Given the description of an element on the screen output the (x, y) to click on. 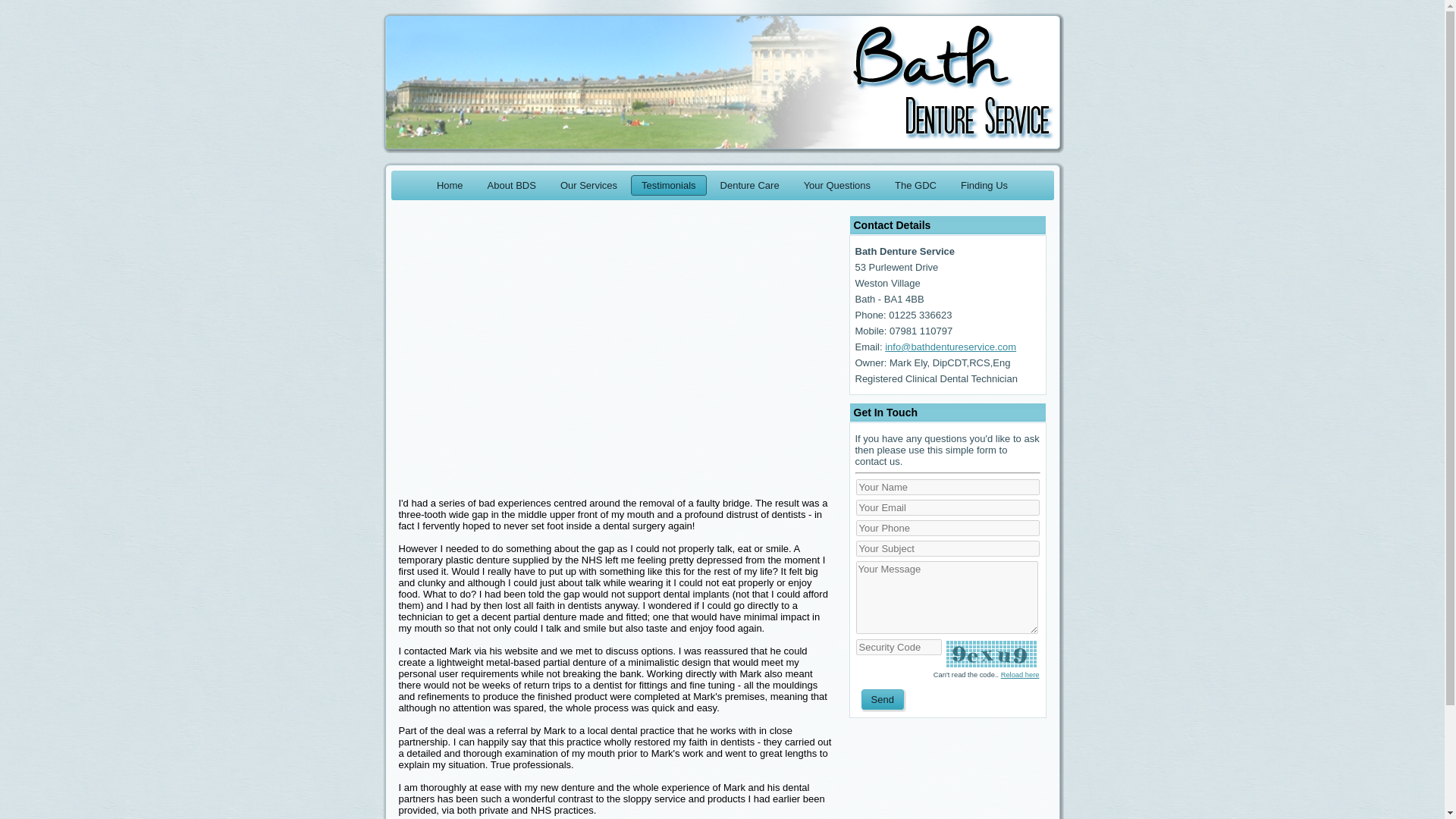
Send (882, 699)
The GDC (915, 185)
Denture Care (750, 185)
Our Services (588, 185)
Home (450, 185)
About BDS (512, 185)
Reload here (1020, 674)
Your Questions (836, 185)
Finding Us (983, 185)
Testimonials (668, 185)
